Given the description of an element on the screen output the (x, y) to click on. 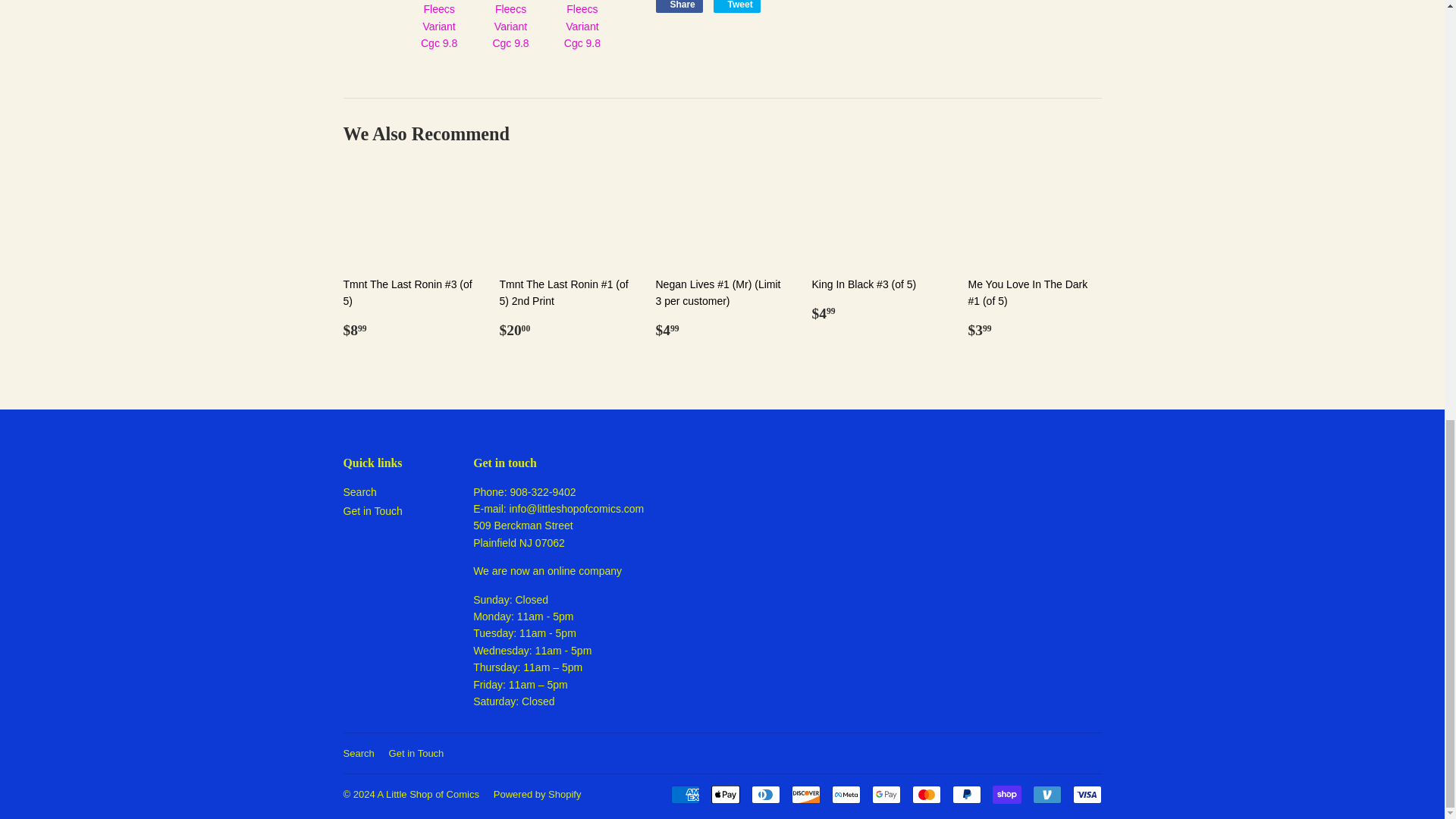
Shop Pay (1005, 794)
Share on Facebook (678, 6)
Tweet on Twitter (736, 6)
Venmo (1046, 794)
Apple Pay (725, 794)
American Express (683, 794)
PayPal (966, 794)
Meta Pay (845, 794)
Google Pay (886, 794)
Mastercard (925, 794)
Visa (1085, 794)
Diners Club (764, 794)
Discover (806, 794)
